Given the description of an element on the screen output the (x, y) to click on. 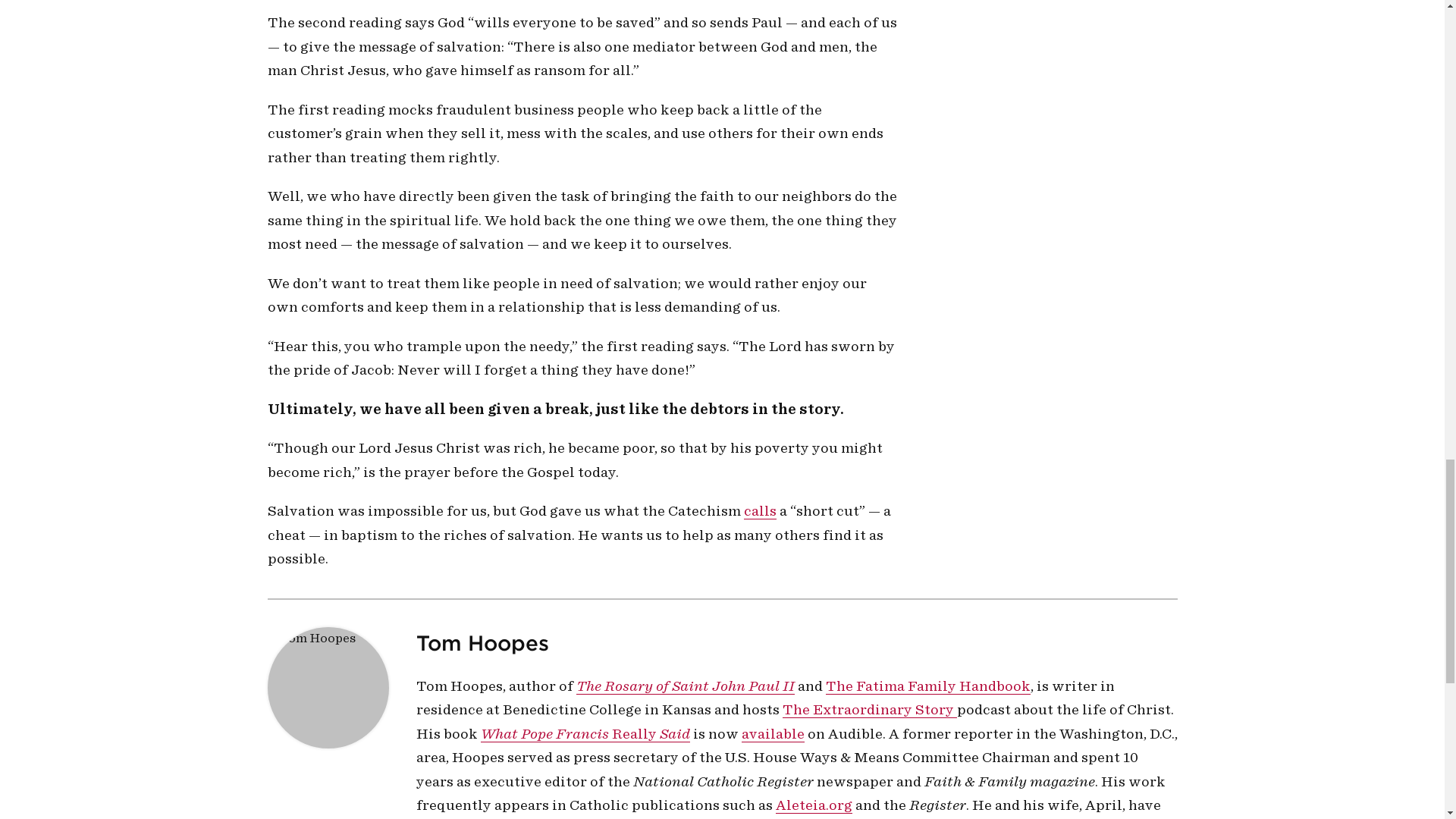
What Pope Francis Really Said (585, 733)
The Rosary of Saint John Paul II (685, 686)
calls (759, 510)
Aleteia.org (812, 805)
The Extraordinary Story (869, 709)
available (773, 733)
The Fatima Family Handbook (927, 686)
